Given the description of an element on the screen output the (x, y) to click on. 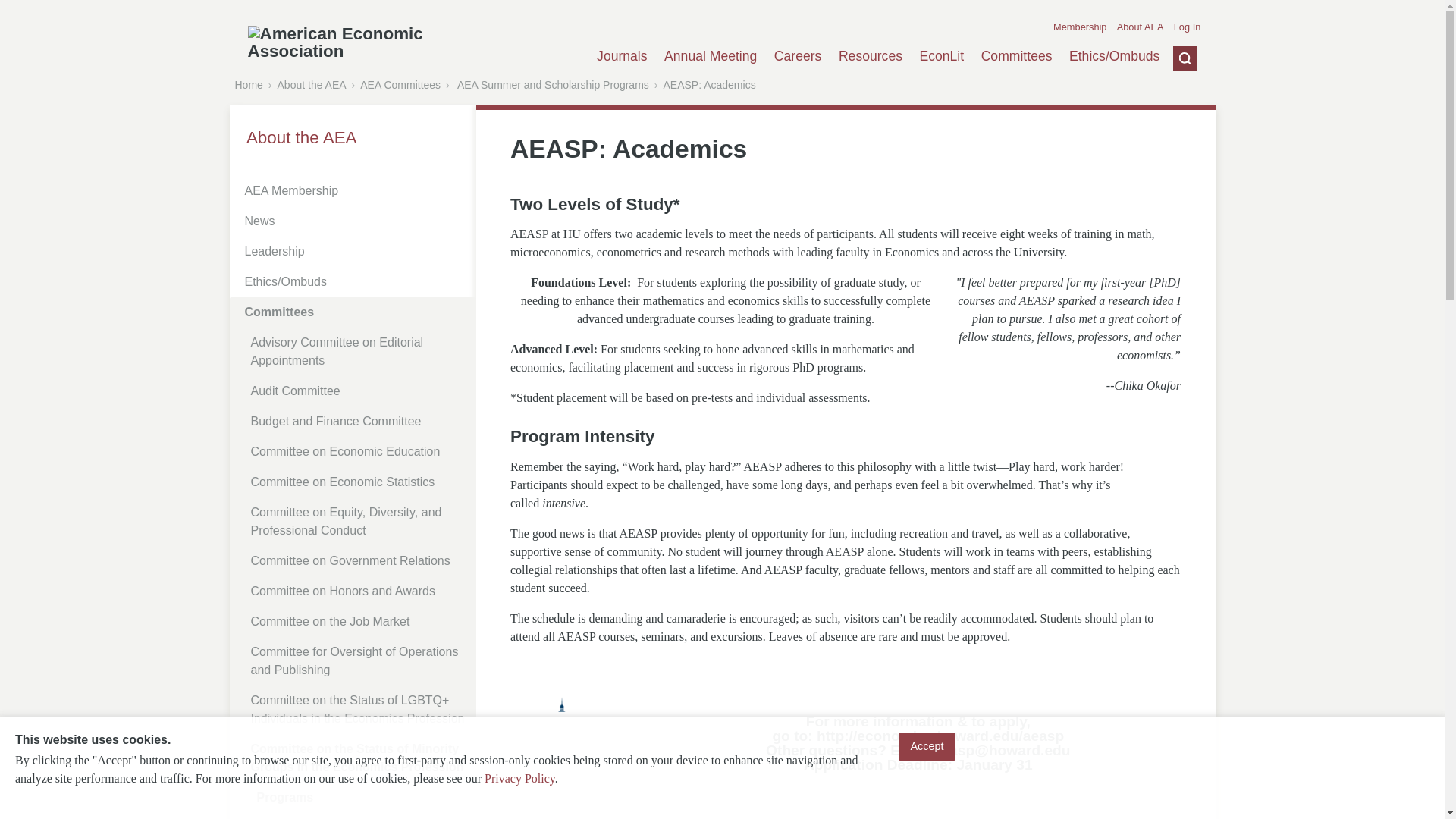
EconLit (940, 55)
Membership (1079, 26)
AEA Membership (355, 191)
About AEA (1139, 26)
AEASP: Academics (708, 84)
News (355, 221)
Advisory Committee on Editorial Appointments (358, 351)
Accept (926, 746)
Journals (621, 55)
AEA Committees (400, 84)
Annual Meeting (710, 55)
Committee for Oversight of Operations and Publishing (358, 661)
Privacy Policy (519, 778)
Careers (798, 55)
About the AEA (312, 84)
